Given the description of an element on the screen output the (x, y) to click on. 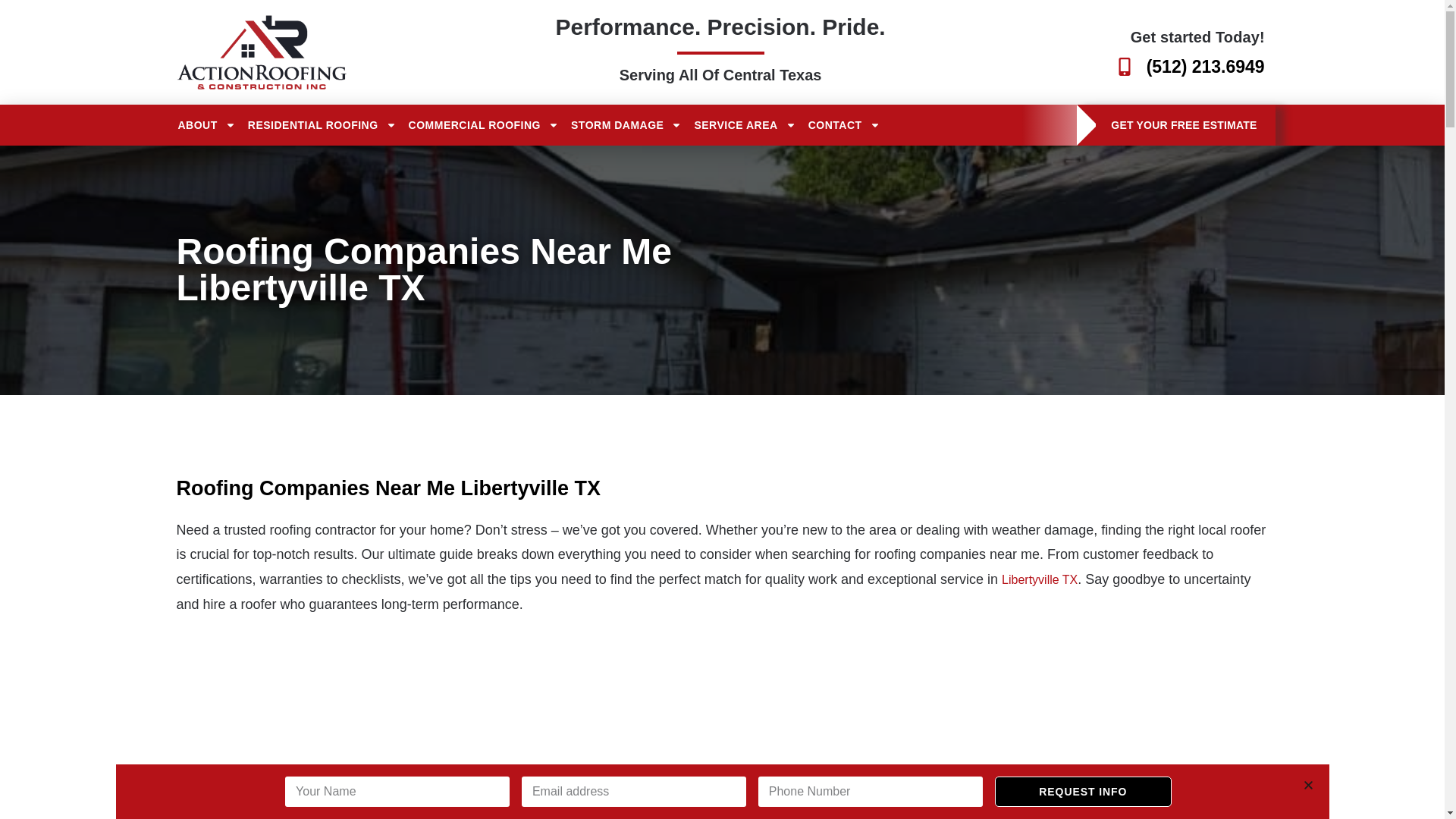
COMMERCIAL ROOFING (483, 124)
SERVICE AREA (744, 124)
Get started Today! (1198, 36)
CONTACT (844, 124)
RESIDENTIAL ROOFING (322, 124)
ABOUT (206, 124)
STORM DAMAGE (625, 124)
